Given the description of an element on the screen output the (x, y) to click on. 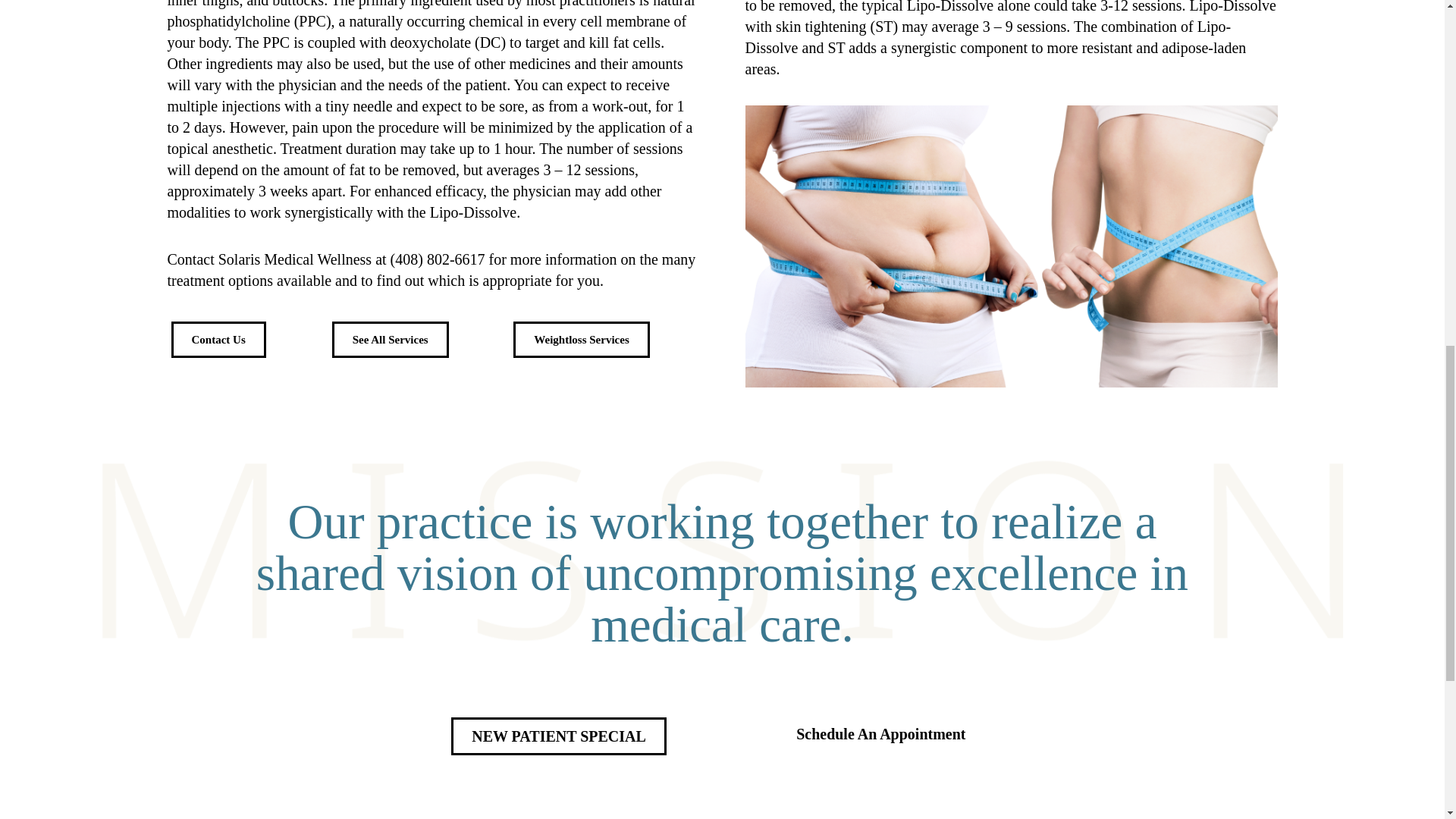
NEW PATIENT SPECIAL (558, 736)
See All Services (389, 339)
Contact Us (218, 339)
Schedule An Appointment (880, 734)
Weightloss Services (581, 339)
